Given the description of an element on the screen output the (x, y) to click on. 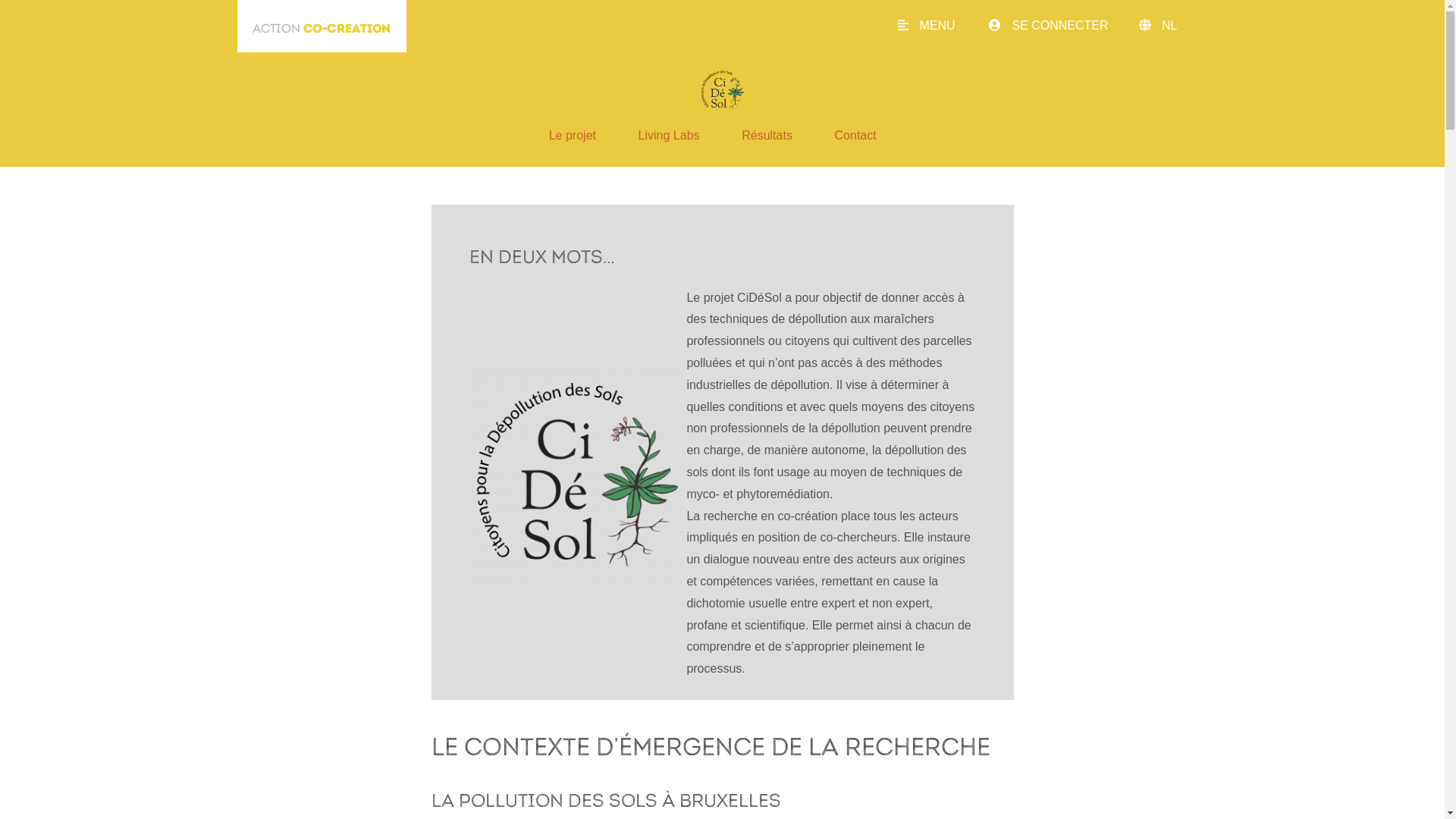
Contact Element type: text (855, 134)
SE CONNECTER Element type: text (1063, 26)
NL Element type: text (1184, 26)
Le projet Element type: text (572, 134)
MENU Element type: text (941, 26)
Living Labs Element type: text (668, 134)
